Given the description of an element on the screen output the (x, y) to click on. 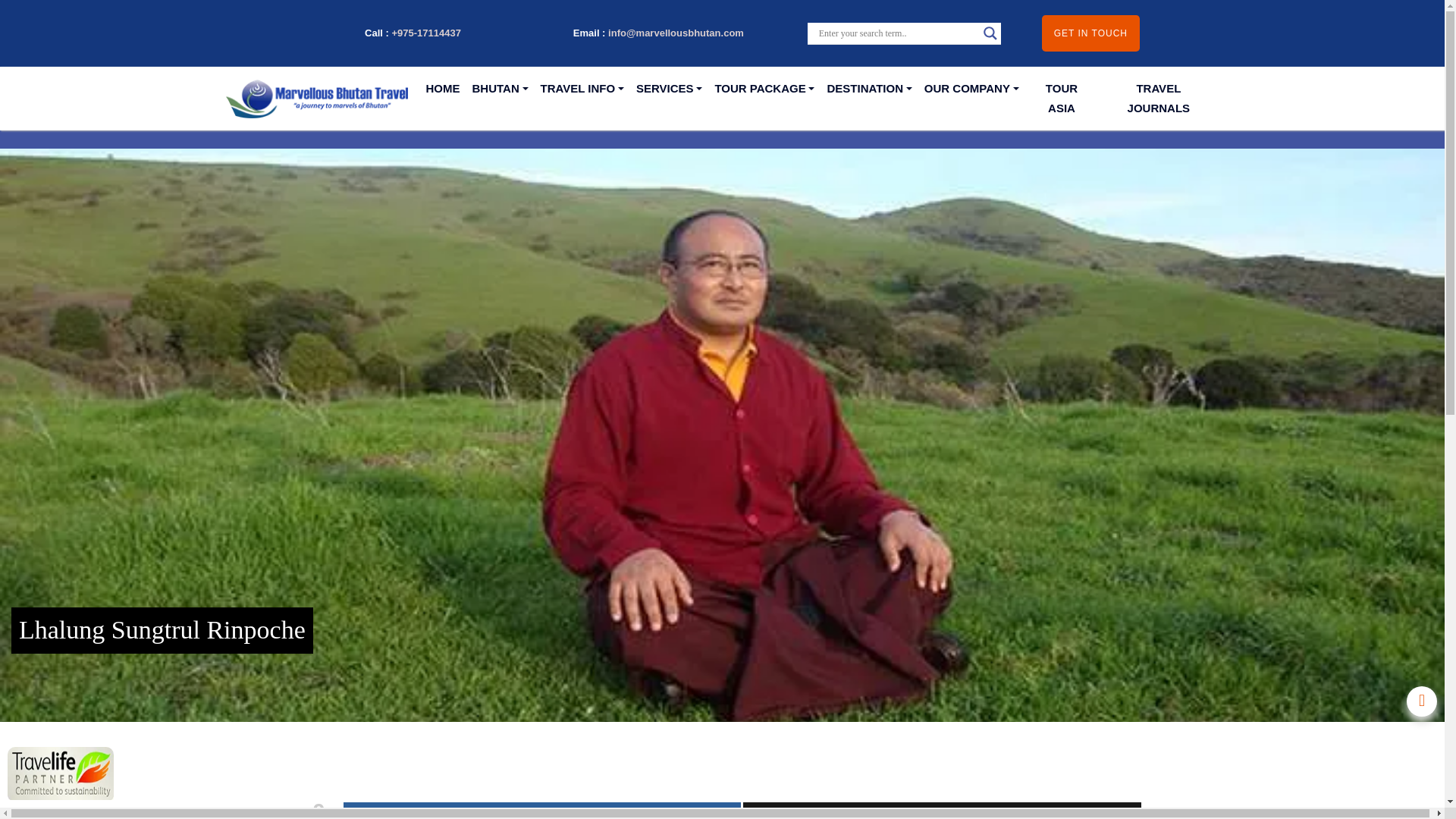
BHUTAN (499, 88)
Bhutan (499, 88)
Home (442, 88)
HOME (442, 88)
TOUR PACKAGE (764, 88)
GET IN TOUCH (1091, 33)
Travel Info (582, 88)
SERVICES (668, 88)
TRAVEL INFO (582, 88)
